Given the description of an element on the screen output the (x, y) to click on. 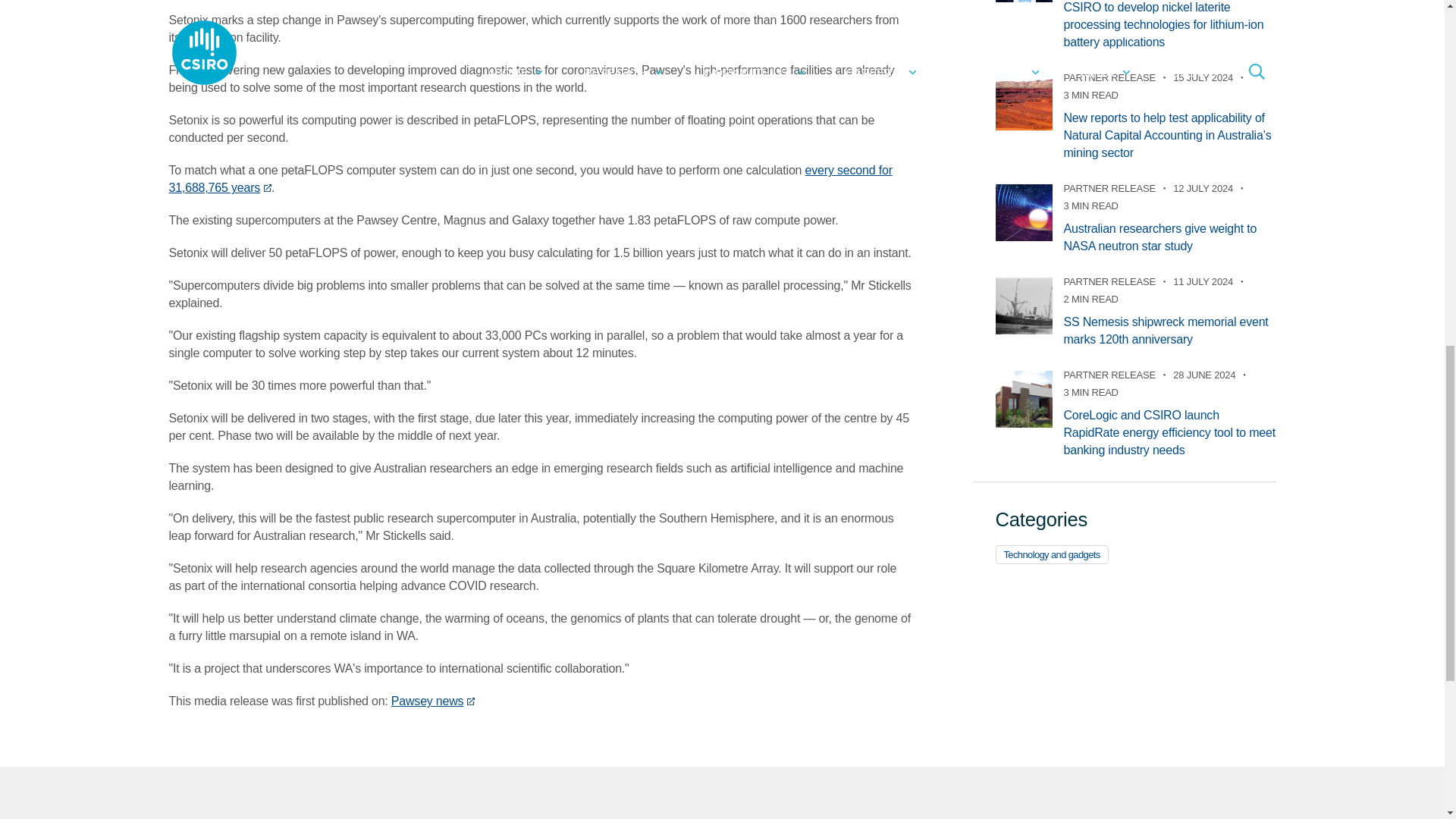
Pawsey news (433, 700)
every second for 31,688,765 years (529, 178)
